Given the description of an element on the screen output the (x, y) to click on. 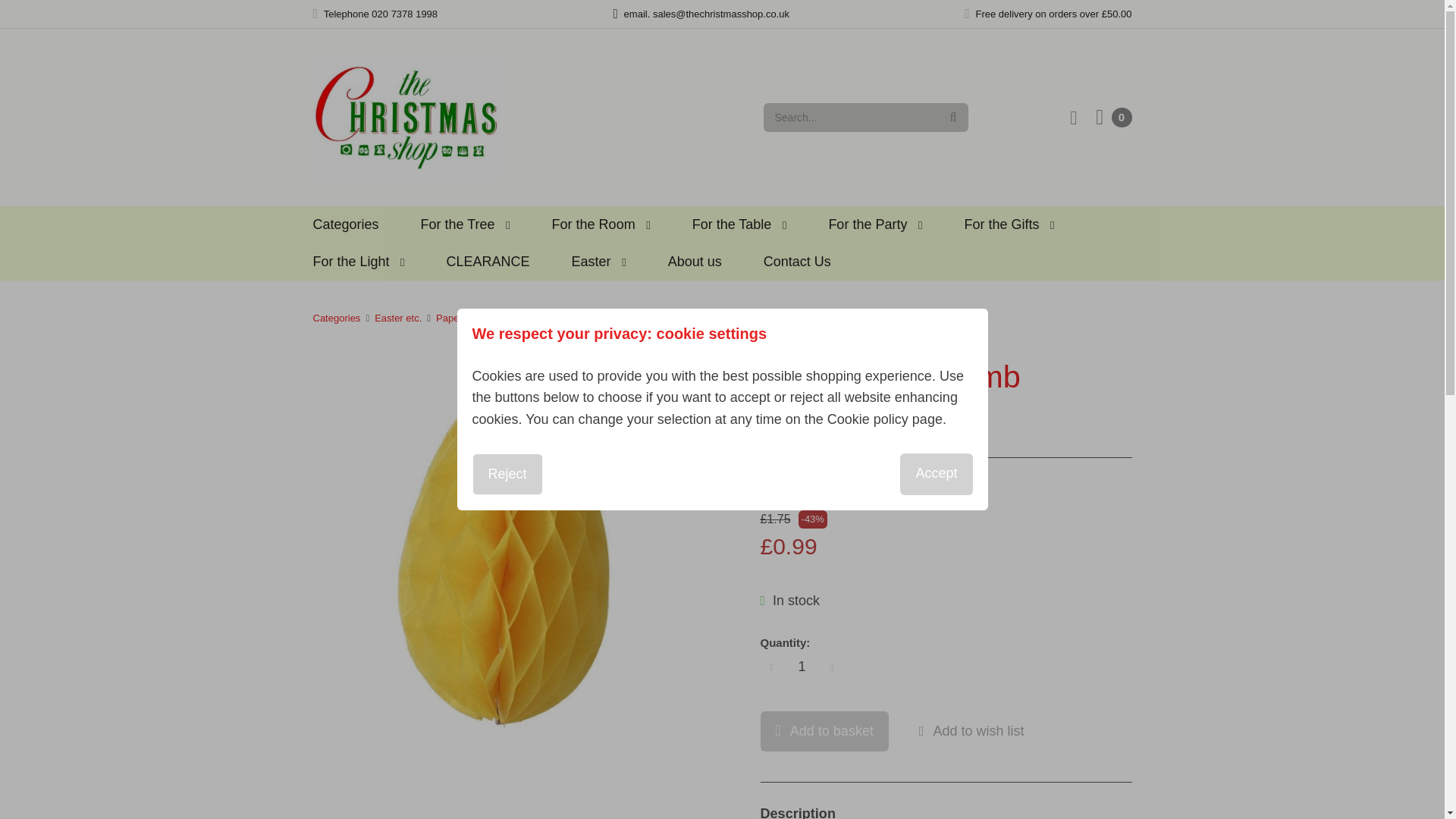
Categories (345, 224)
For the Room (600, 224)
For the Tree (465, 224)
1 (802, 665)
The Christmas Shop (406, 117)
For the Table (740, 224)
